Given the description of an element on the screen output the (x, y) to click on. 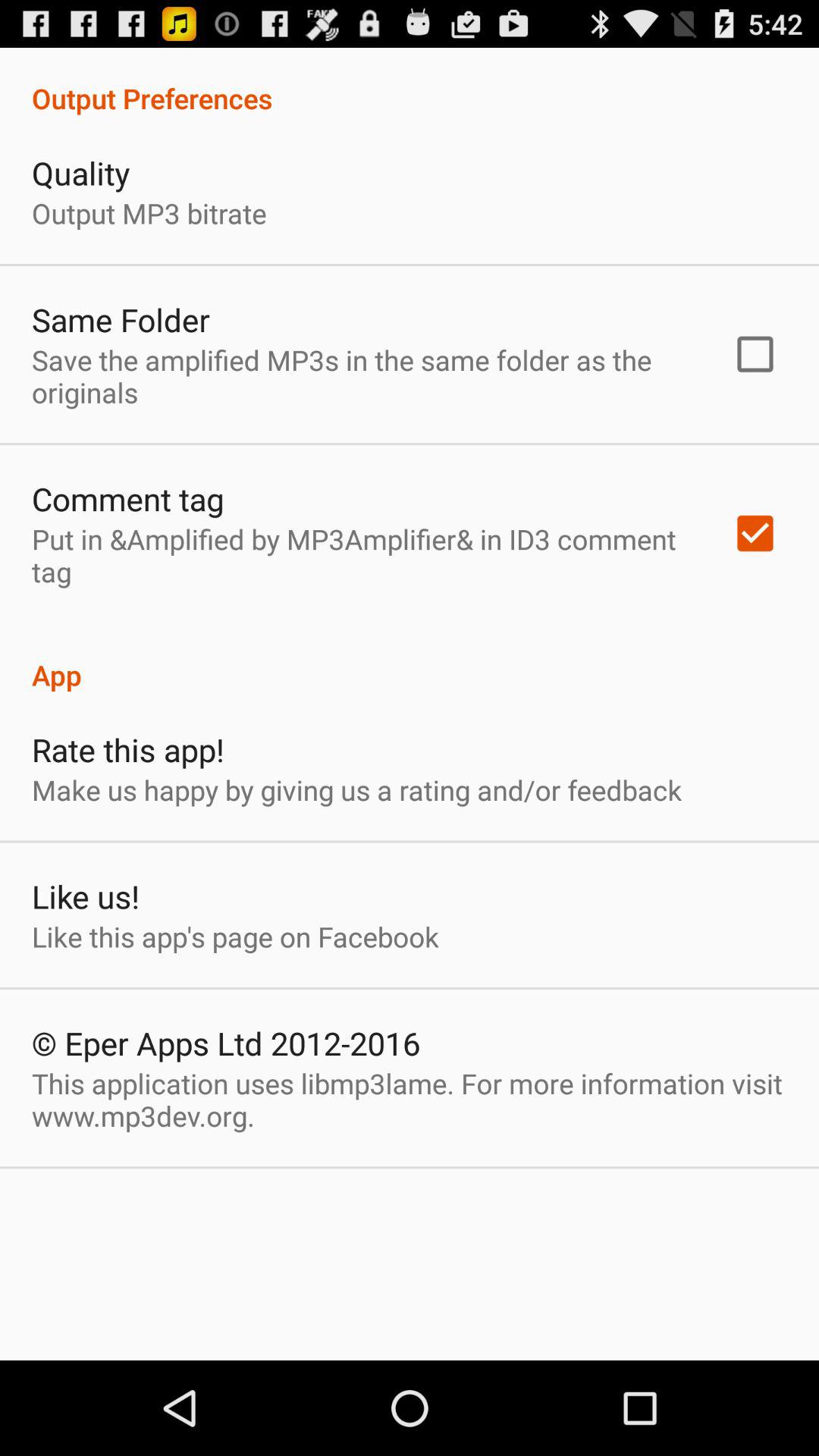
turn off the like us! (85, 895)
